Given the description of an element on the screen output the (x, y) to click on. 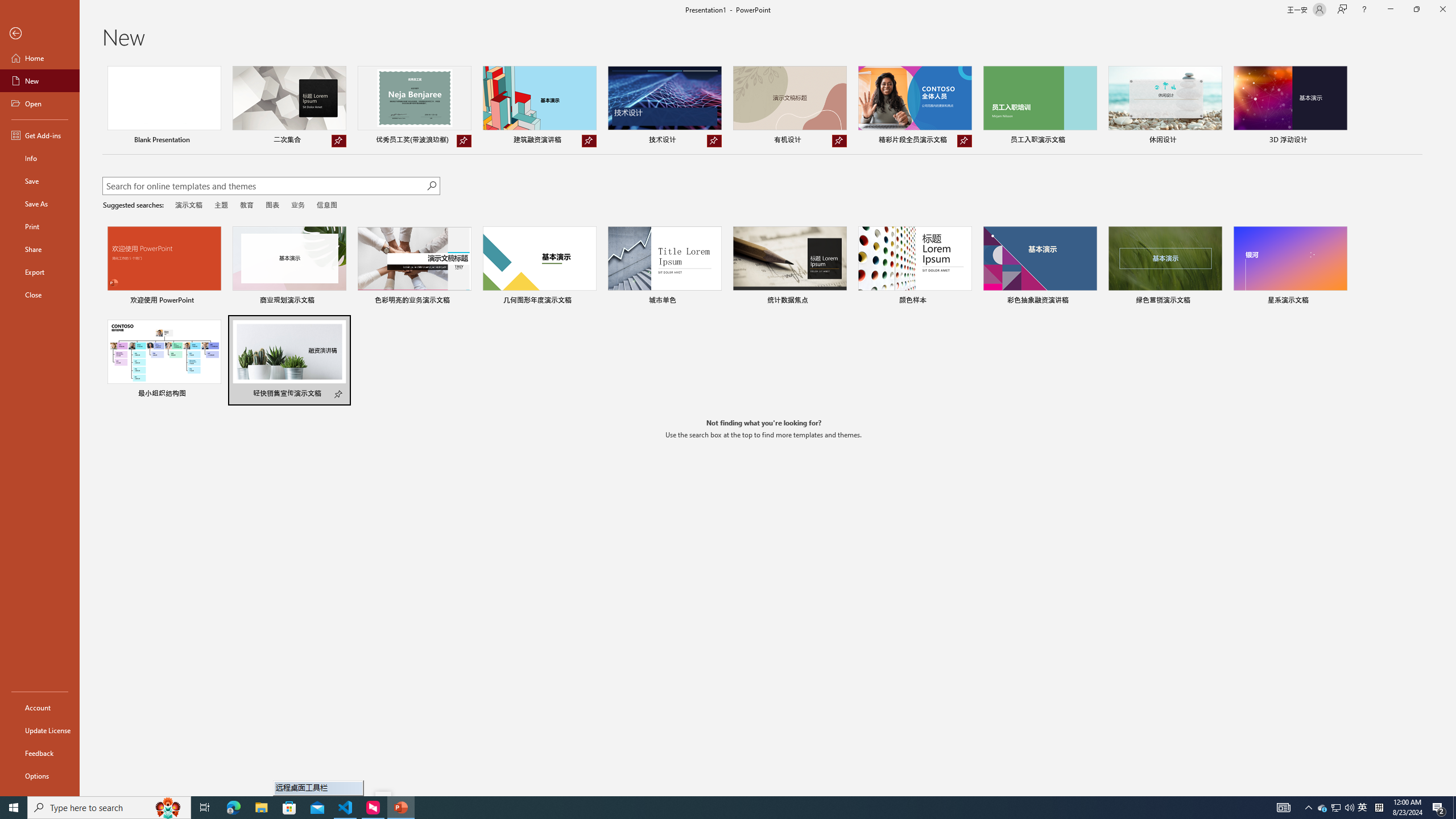
Start searching (431, 185)
Save As (40, 203)
